Given the description of an element on the screen output the (x, y) to click on. 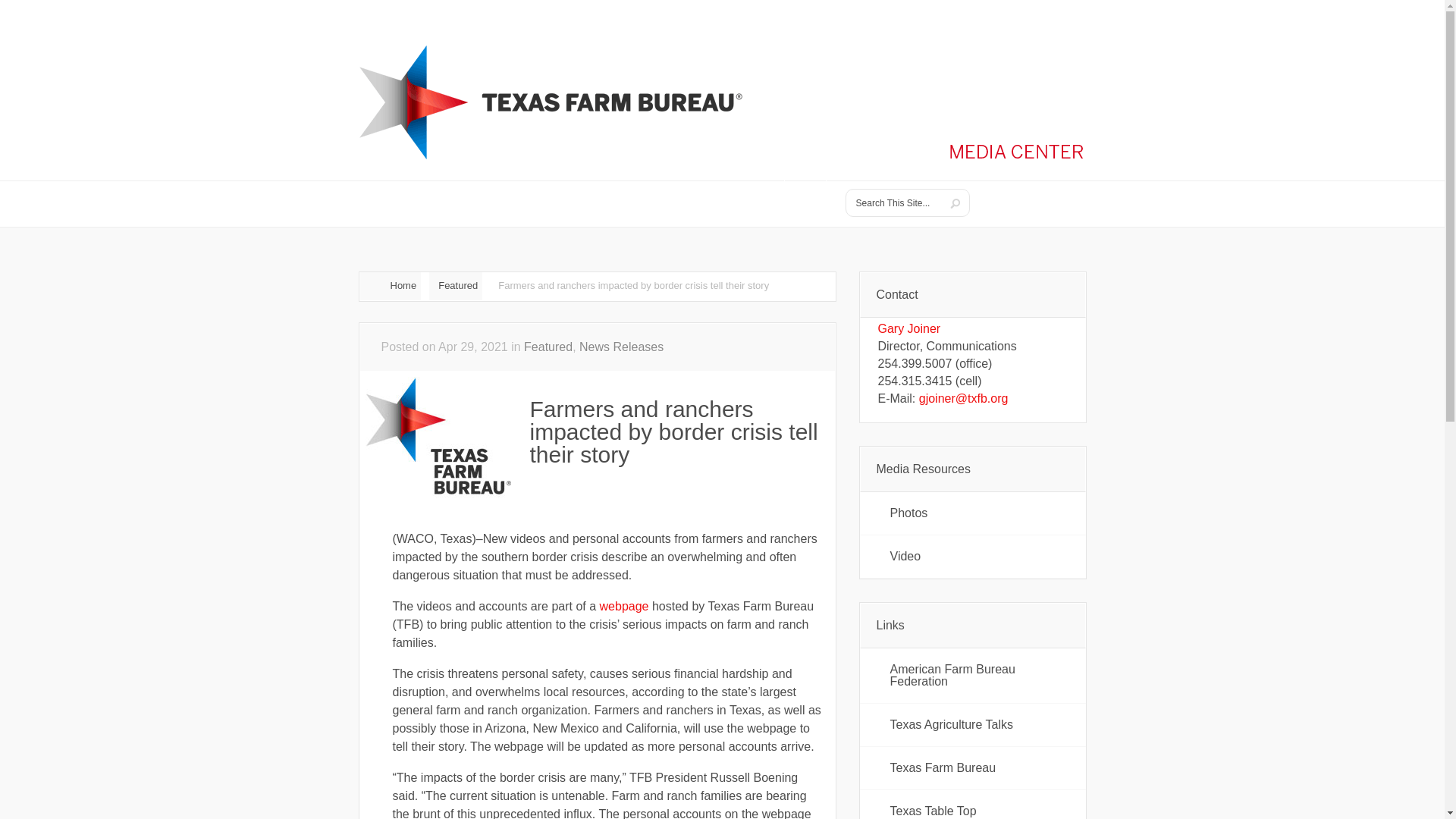
Texas Farm Bureau (973, 767)
Home (389, 285)
News Releases (621, 346)
Photos (973, 513)
Video (973, 556)
Texas Agriculture Talks (973, 724)
webpage (624, 605)
Featured (548, 346)
American Farm Bureau Federation (973, 675)
Texas Table Top (973, 804)
